Given the description of an element on the screen output the (x, y) to click on. 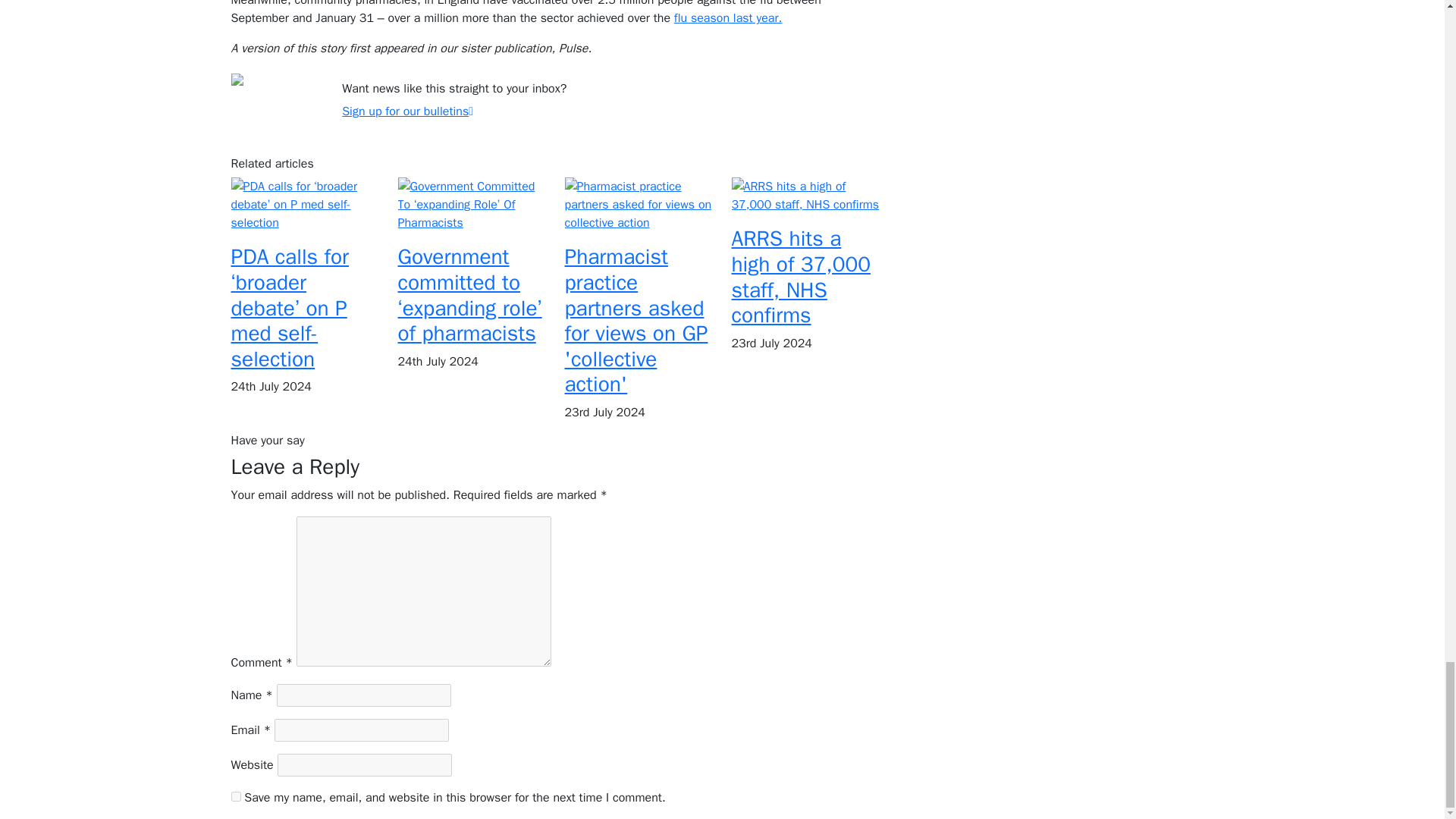
Sign up for our bulletins (407, 111)
yes (235, 796)
ARRS hits a high of 37,000 staff, NHS confirms (800, 276)
ARRS hits a high of 37,000 staff, NHS confirms (804, 194)
